Given the description of an element on the screen output the (x, y) to click on. 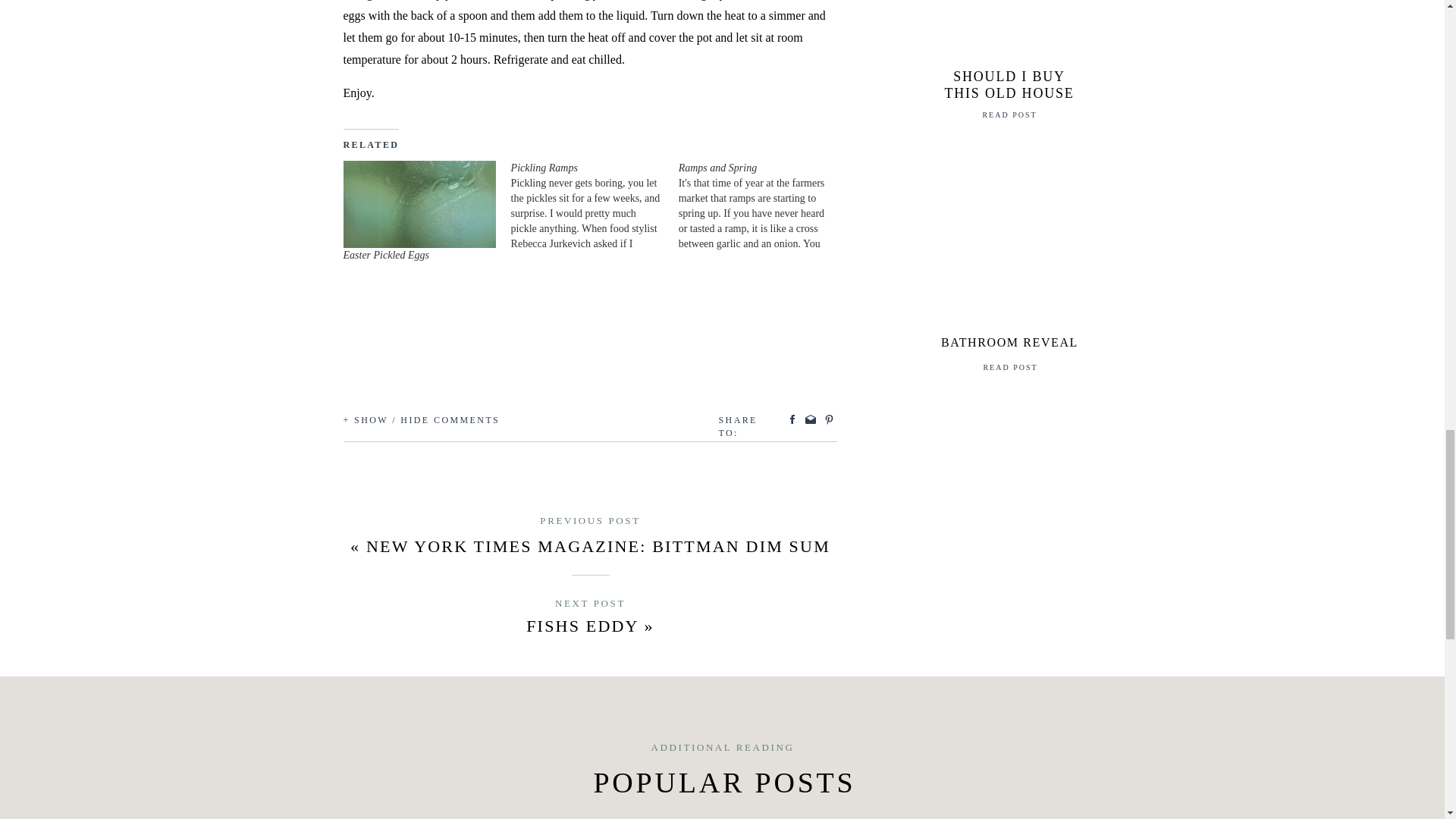
Easter Pickled Eggs (385, 255)
Pickling Ramps (544, 167)
Easter Pickled Eggs (418, 204)
Pickling Ramps (594, 205)
Ramps and Spring (717, 167)
Ramps and Spring (761, 205)
